Given the description of an element on the screen output the (x, y) to click on. 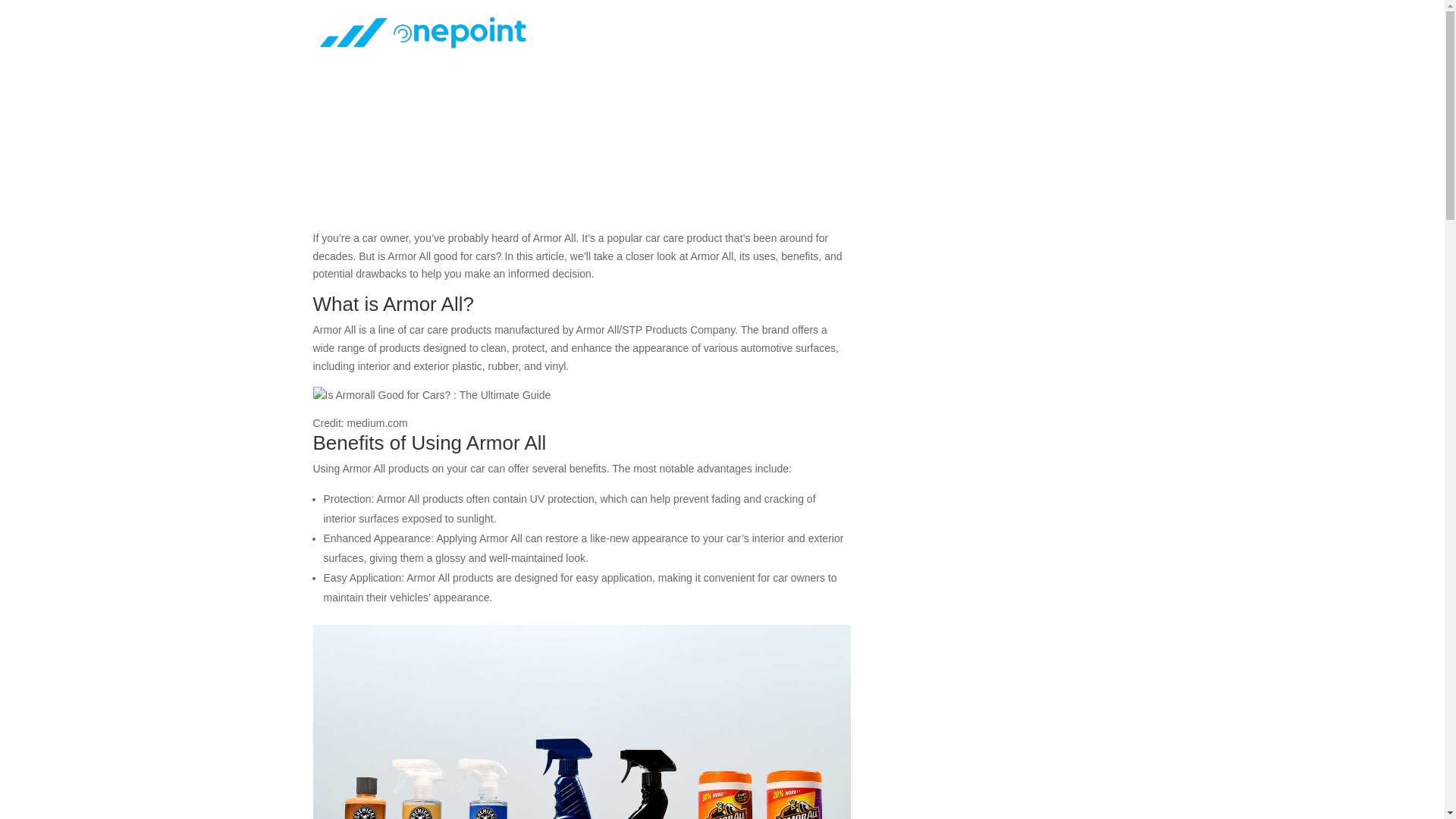
Interior Care (943, 42)
Exterior Care (844, 42)
0 comments (595, 96)
Posts by topratedseoexperthridoy (383, 96)
Cleaners (536, 96)
topratedseoexperthridoy (383, 96)
Contact (1111, 42)
